Given the description of an element on the screen output the (x, y) to click on. 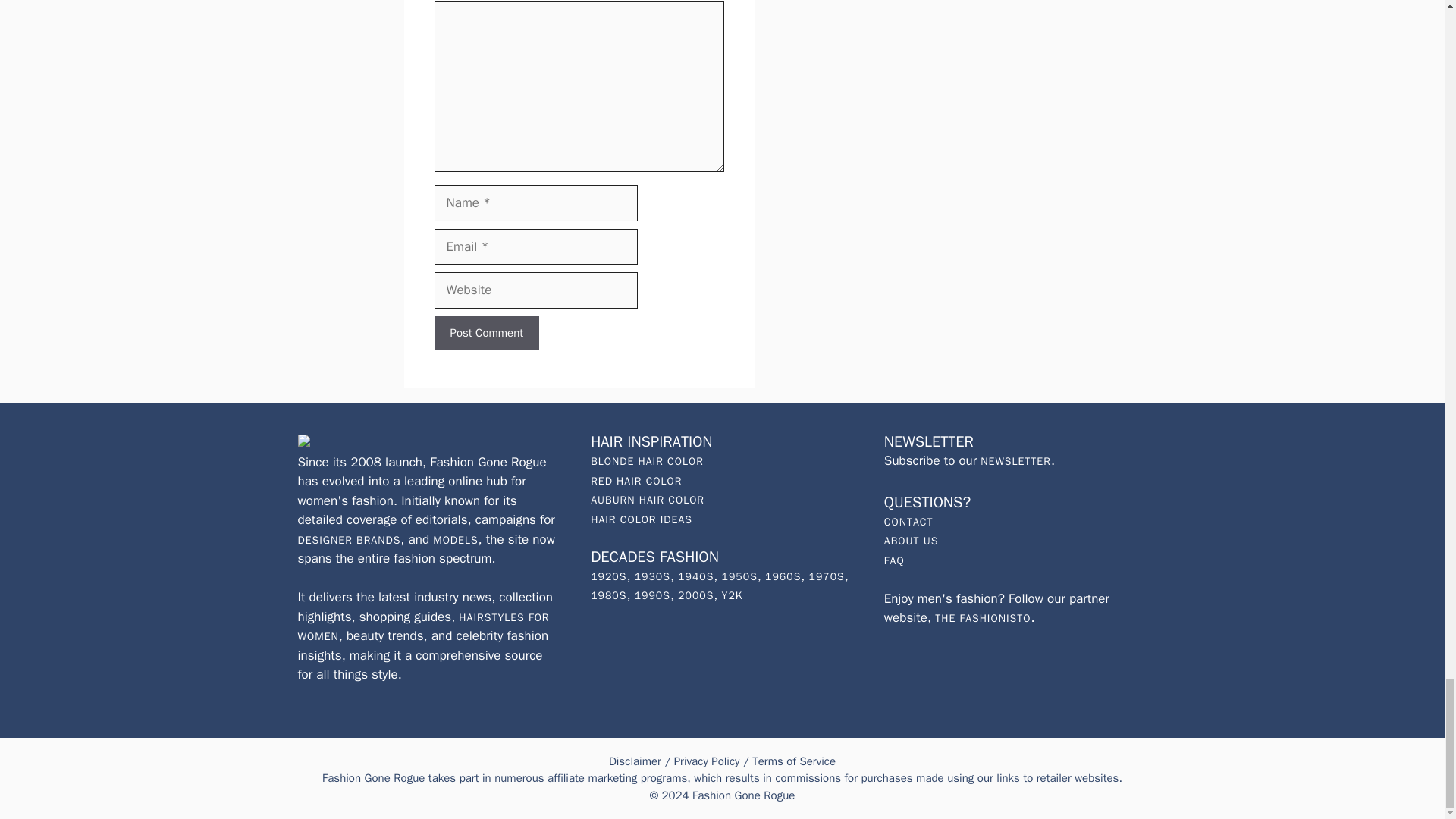
Post Comment (485, 333)
